Given the description of an element on the screen output the (x, y) to click on. 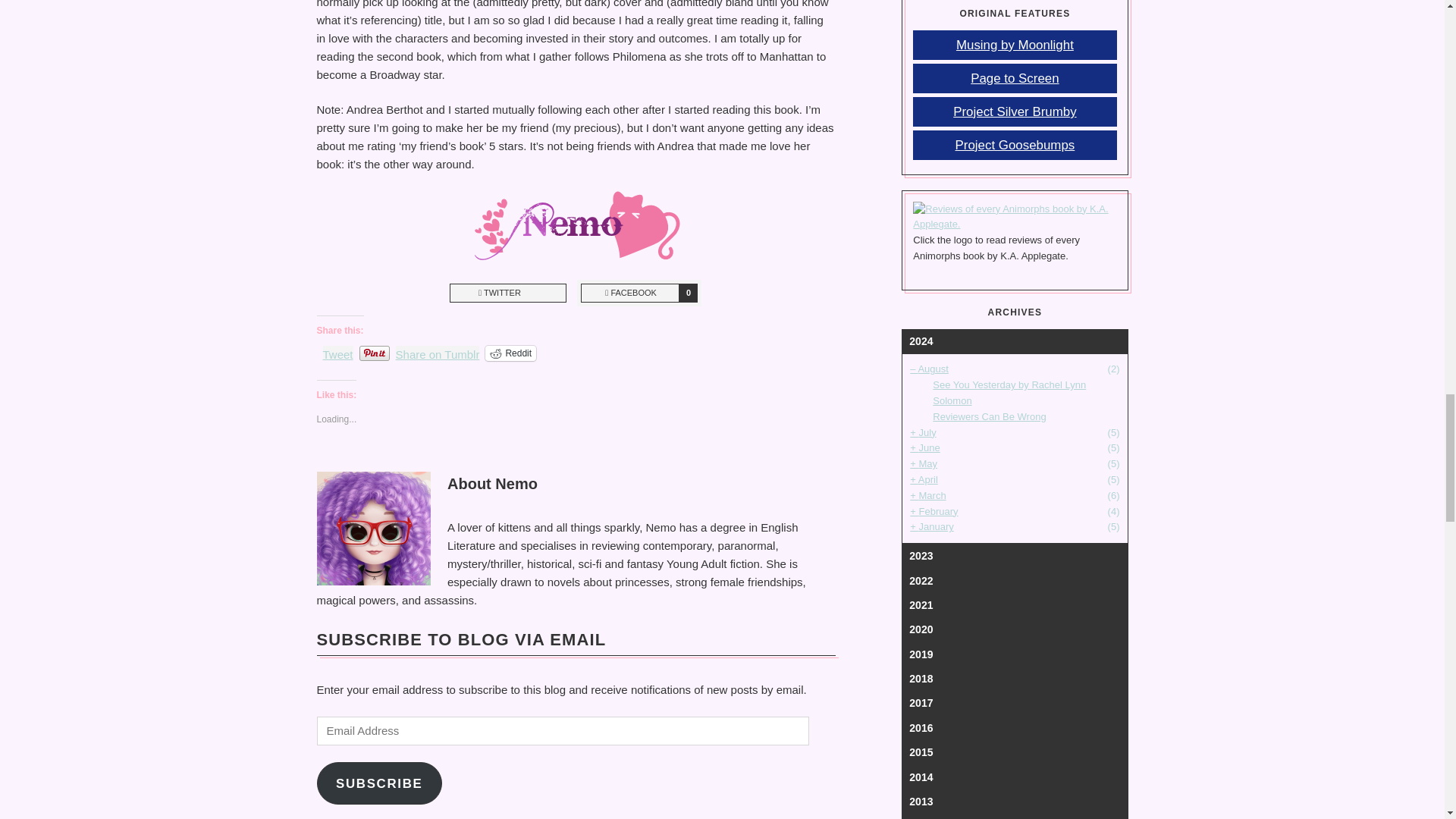
Tweet (338, 352)
Click to share on Reddit (638, 293)
TWITTER (509, 353)
Share on Tumblr (507, 293)
SUBSCRIBE (438, 352)
Project Animorphs (379, 783)
Reddit (1014, 224)
Share on Tumblr (509, 353)
